Given the description of an element on the screen output the (x, y) to click on. 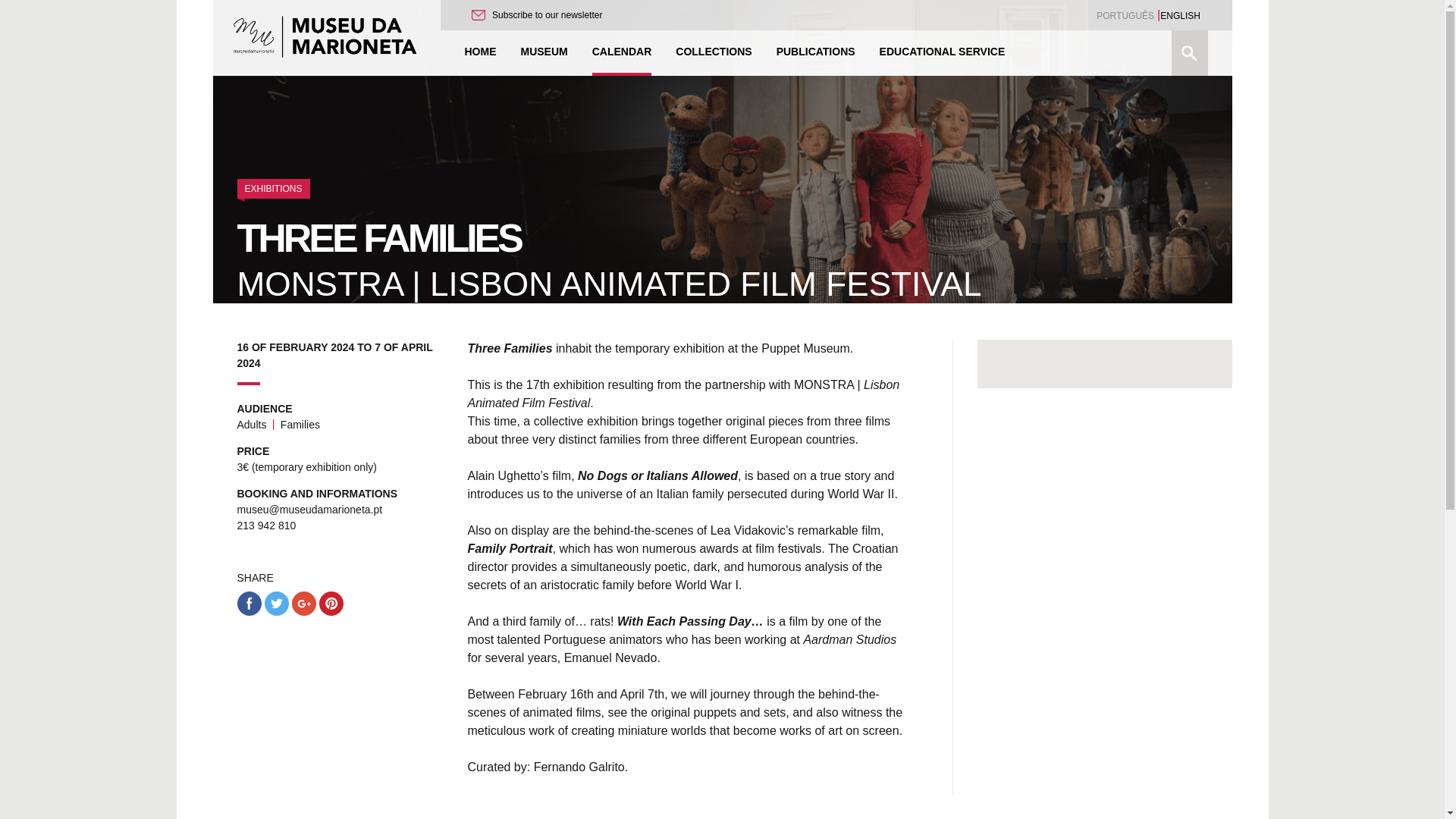
Share on Pinterest (330, 603)
MUSEUM (543, 53)
ENGLISH (1179, 15)
Share on Twitter (275, 603)
COLLECTIONS (713, 53)
Subscribe to our newsletter (536, 15)
EDUCATIONAL SERVICE (942, 53)
English (1179, 15)
Subscribe to our newsletter (536, 15)
PUBLICATIONS (816, 53)
Share on Facebook (247, 603)
CALENDAR (622, 53)
